Given the description of an element on the screen output the (x, y) to click on. 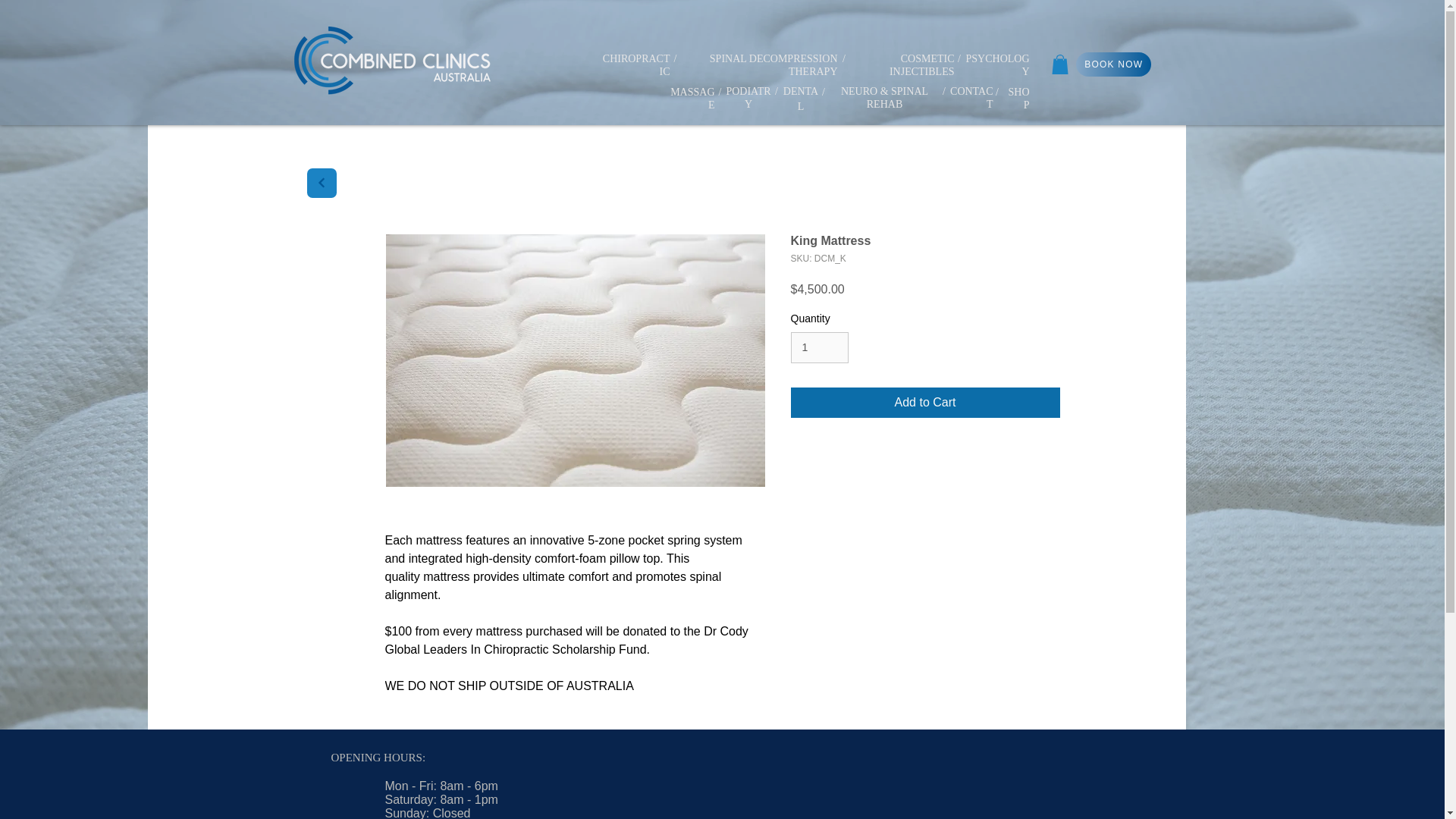
PSYCHOLOGY (997, 64)
CHIROPRACTIC (635, 64)
BOOK NOW (1112, 64)
1 (818, 347)
Add to Cart (924, 402)
PODIATRY (747, 97)
SPINAL DECOMPRESSION THERAPY (774, 64)
DENTAL (800, 98)
COSMETIC INJECTIBLES (922, 64)
MASSAGE (691, 97)
CONTACT (971, 97)
